Given the description of an element on the screen output the (x, y) to click on. 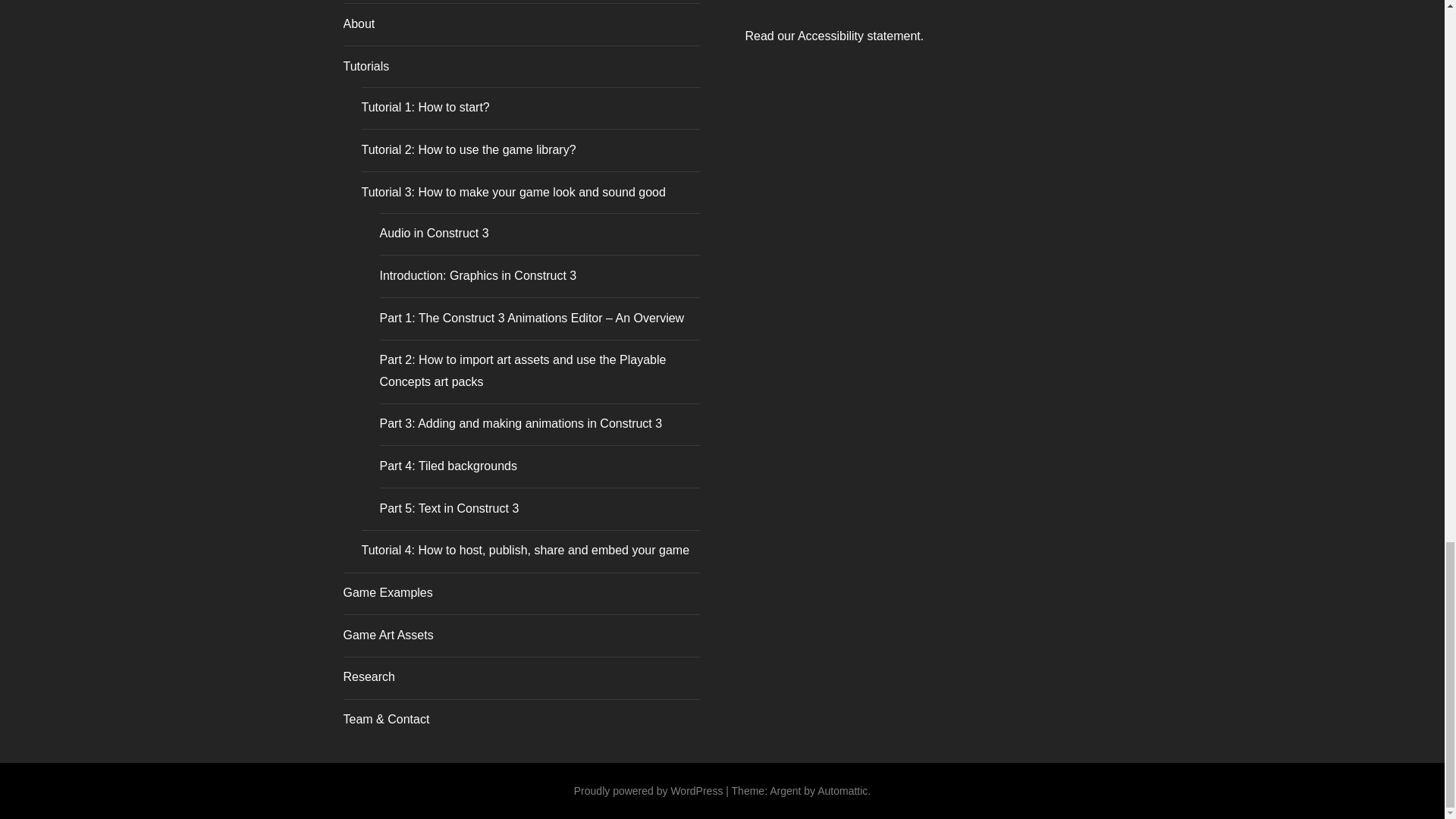
Game Examples (387, 592)
Part 4: Tiled backgrounds (447, 465)
Tutorial 1: How to start? (425, 106)
About (358, 23)
Part 5: Text in Construct 3 (448, 508)
Introduction: Graphics in Construct 3 (477, 275)
Tutorial 2: How to use the game library? (468, 149)
Tutorial 4: How to host, publish, share and embed your game (524, 549)
Audio in Construct 3 (432, 232)
Tutorials (365, 65)
Tutorial 3: How to make your game look and sound good (513, 192)
Part 3: Adding and making animations in Construct 3 (520, 422)
